Given the description of an element on the screen output the (x, y) to click on. 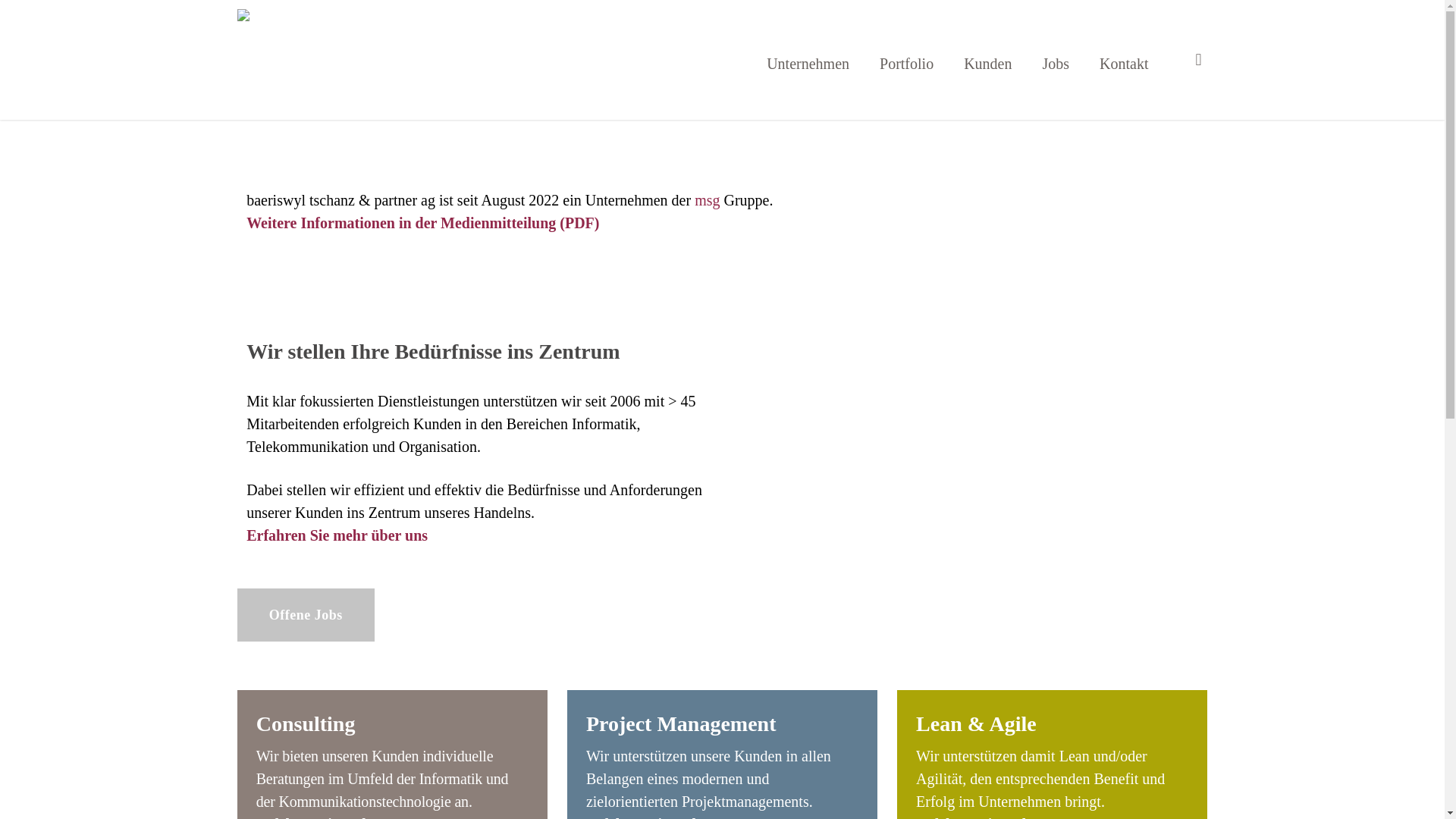
search Element type: text (1198, 59)
Kunden Element type: text (987, 59)
Portfolio Element type: text (906, 59)
msg Element type: text (706, 199)
Offene Jobs Element type: text (305, 614)
Kontakt Element type: text (1123, 59)
Unternehmen Element type: text (807, 59)
Weitere Informationen in der Medienmitteilung (PDF) Element type: text (426, 222)
Jobs Element type: text (1055, 59)
